Given the description of an element on the screen output the (x, y) to click on. 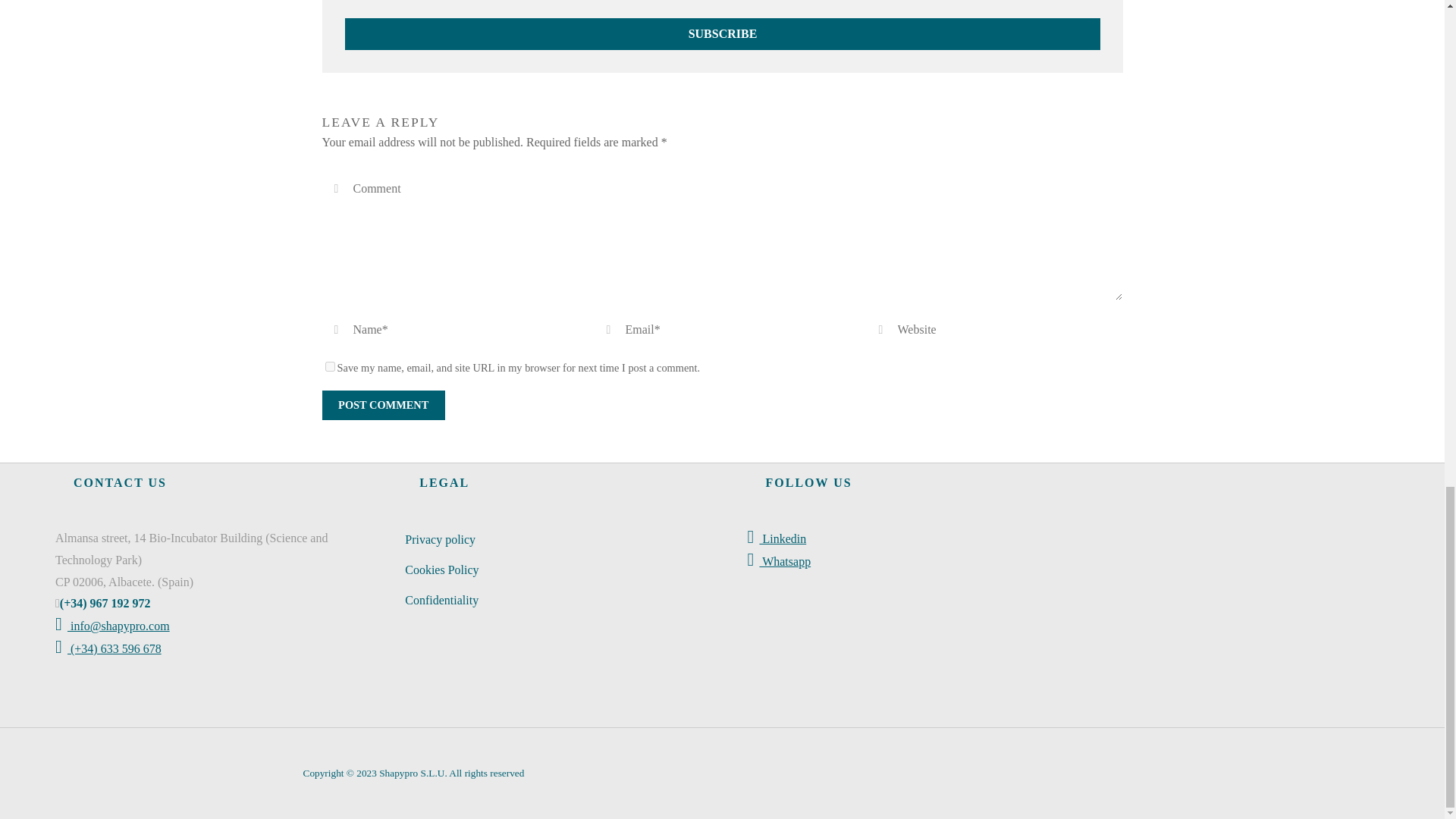
Subscribe (721, 33)
Post Comment (382, 405)
yes (329, 366)
